Given the description of an element on the screen output the (x, y) to click on. 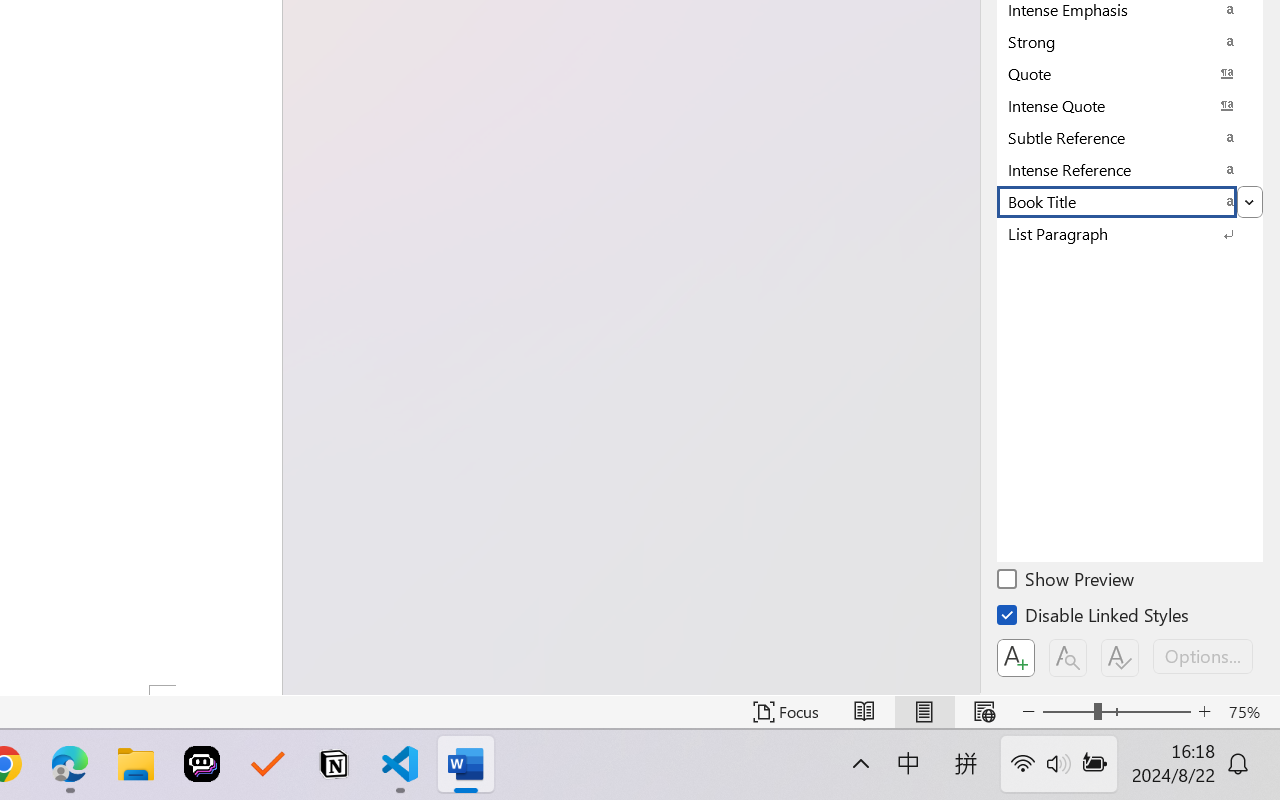
Intense Reference (1130, 169)
Options... (1203, 656)
List Paragraph (1130, 233)
